Given the description of an element on the screen output the (x, y) to click on. 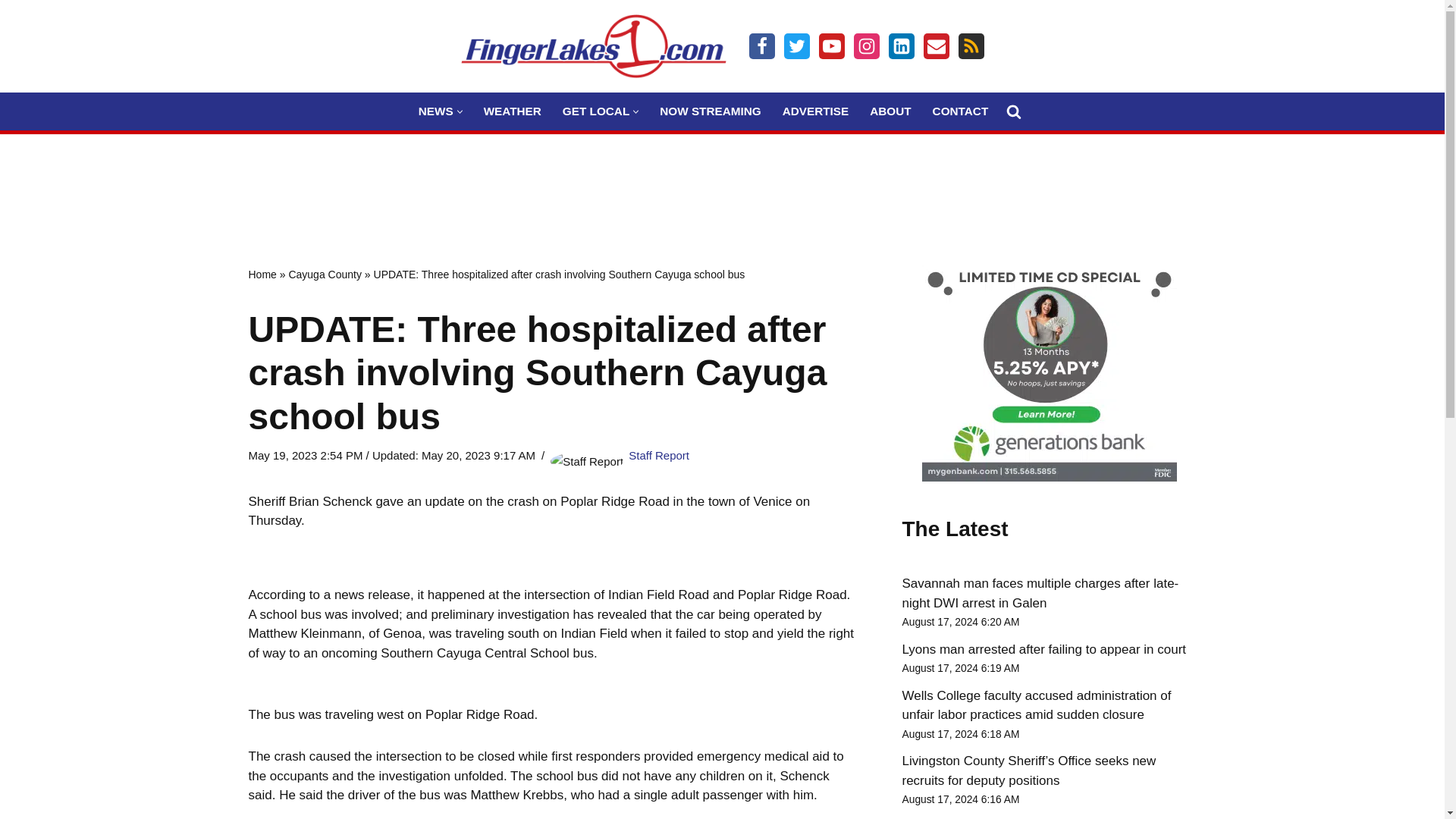
NOW STREAMING (709, 111)
Instagram (866, 45)
LinkIn (901, 45)
Skip to content (11, 31)
NEWS (435, 111)
Email Us (936, 45)
Youtube (831, 45)
CONTACT (960, 111)
Posts by Staff Report (658, 454)
Feed (971, 45)
